Given the description of an element on the screen output the (x, y) to click on. 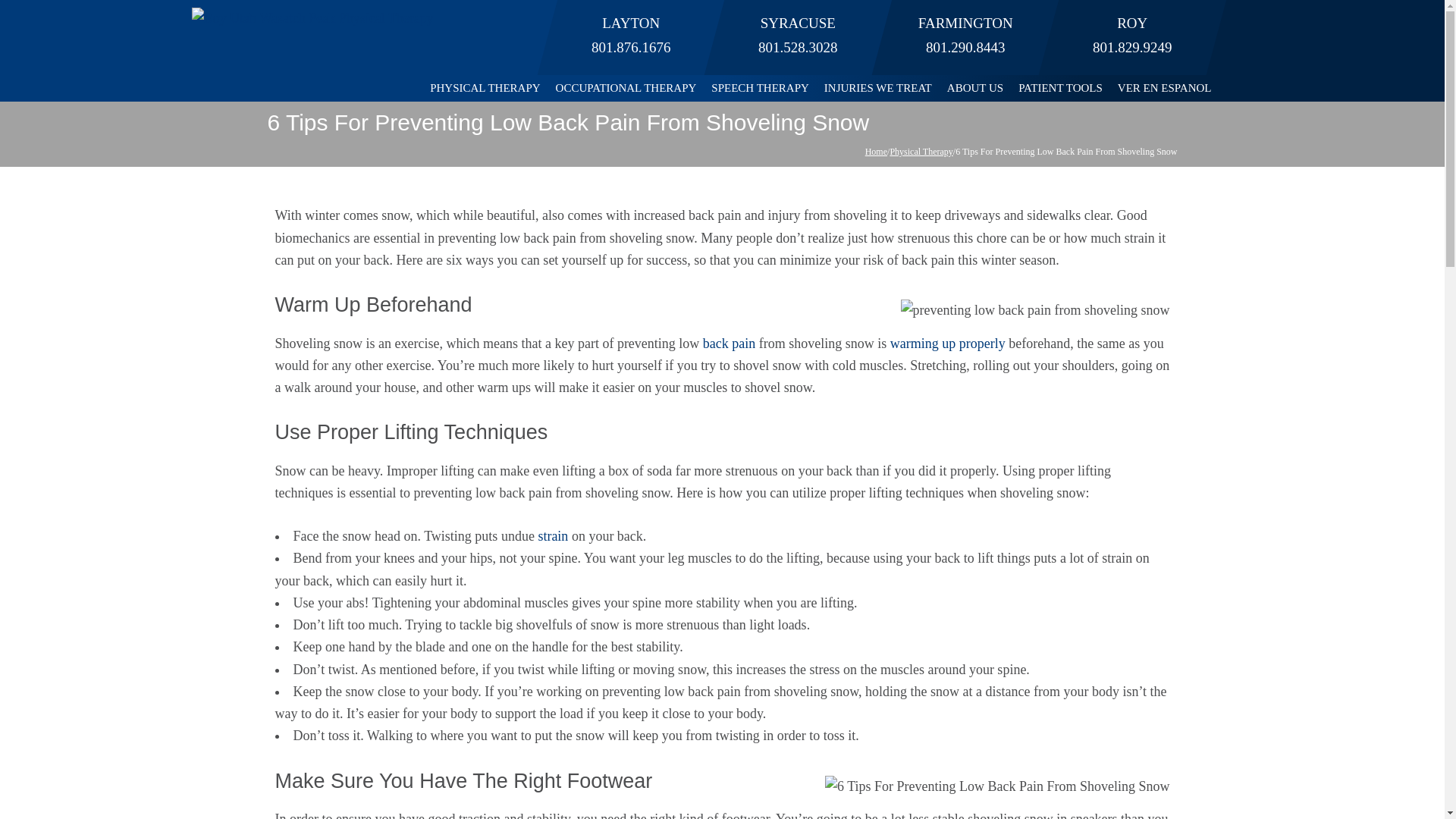
PHYSICAL THERAPY (484, 88)
FARMINGTON (964, 23)
INJURIES WE TREAT (877, 88)
6 Tips For Preventing Low Back Pain From Shoveling Snow (1035, 310)
801.290.8443 (964, 47)
OCCUPATIONAL THERAPY (626, 88)
801.829.9249 (1132, 47)
801.876.1676 (631, 47)
6 Tips For Preventing Low Back Pain From Shoveling Snow (997, 786)
SPEECH THERAPY (759, 88)
